Given the description of an element on the screen output the (x, y) to click on. 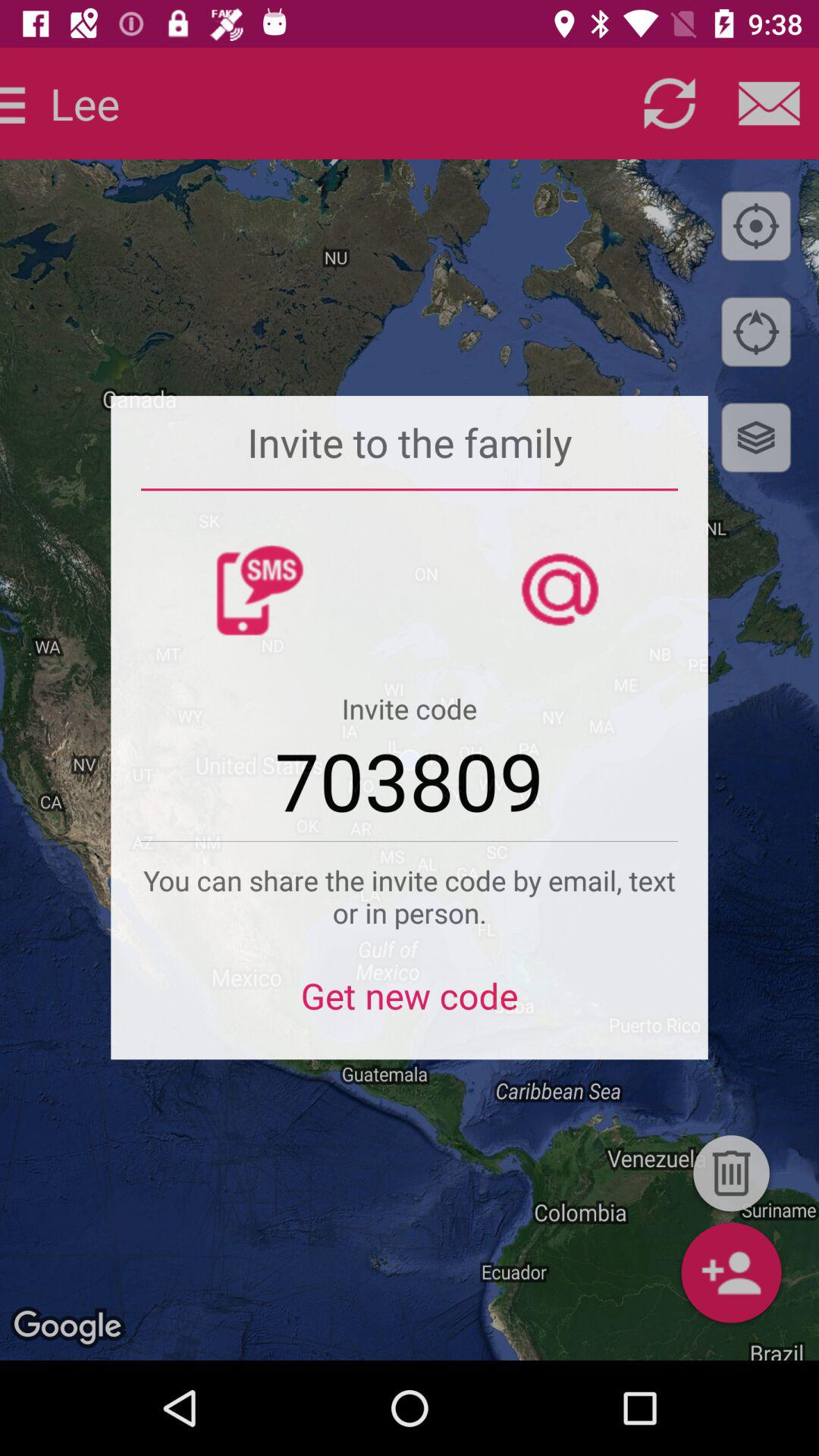
hit to refresh (669, 103)
